Given the description of an element on the screen output the (x, y) to click on. 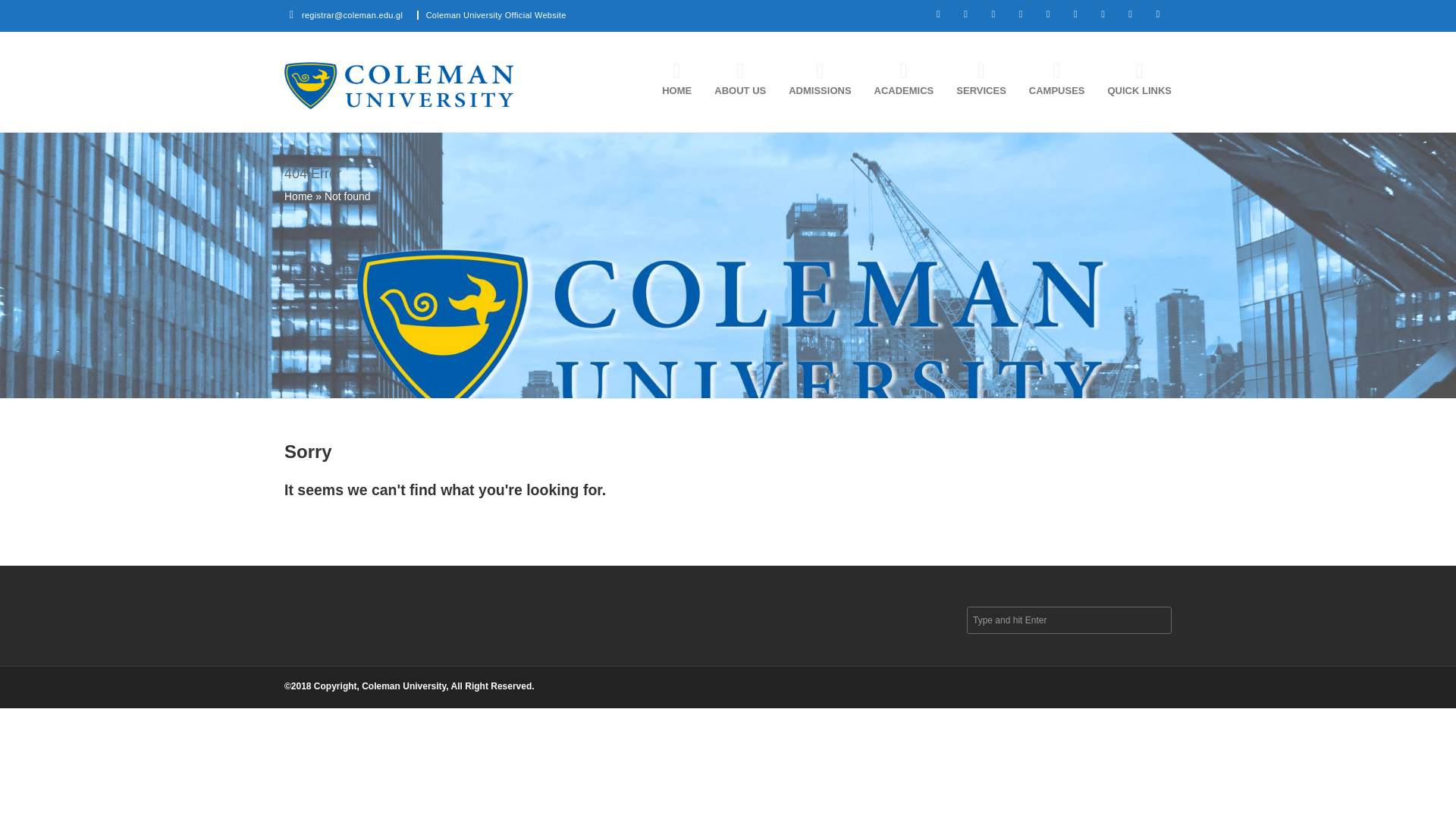
Facebook (965, 13)
Google Plus (993, 13)
Twitter (937, 13)
ADMISSIONS (812, 81)
Vimeo (1074, 13)
Coleman University (398, 85)
ABOUT US (732, 81)
ACADEMICS (897, 81)
Youtube (1047, 13)
Flickr (1102, 13)
Linkedin (1020, 13)
